Given the description of an element on the screen output the (x, y) to click on. 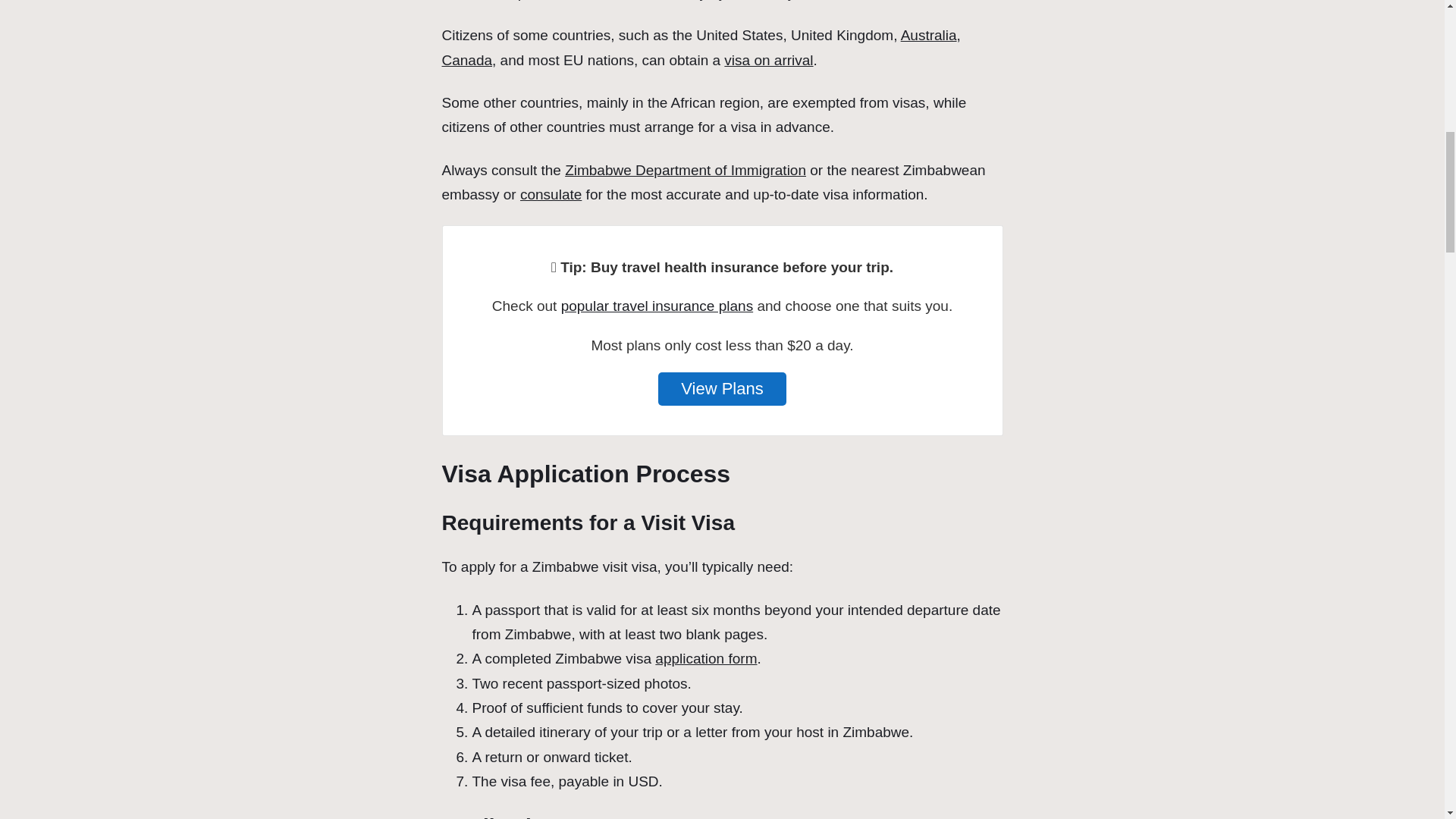
consulate (549, 194)
Canada (466, 59)
popular travel insurance plans (657, 305)
View Plans (722, 388)
application form (706, 658)
Zimbabwe Department of Immigration (685, 170)
Australia (928, 35)
visa on arrival (767, 59)
